Given the description of an element on the screen output the (x, y) to click on. 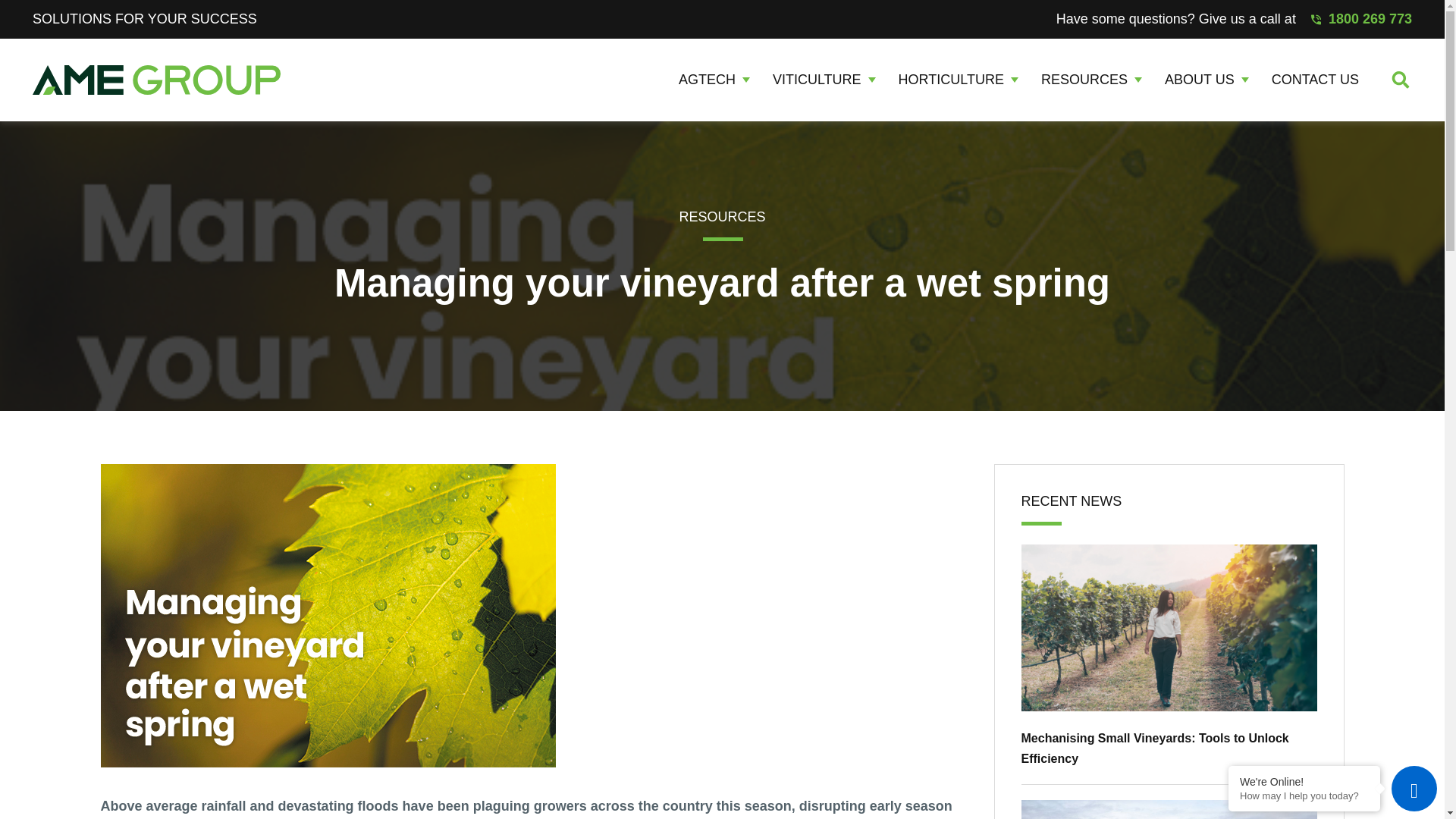
We're Online! (1304, 781)
RESOURCES (1091, 79)
AGTECH (713, 79)
VITICULTURE (823, 79)
1800 269 773 (1361, 19)
HORTICULTURE (957, 79)
How may I help you today? (1304, 795)
